Given the description of an element on the screen output the (x, y) to click on. 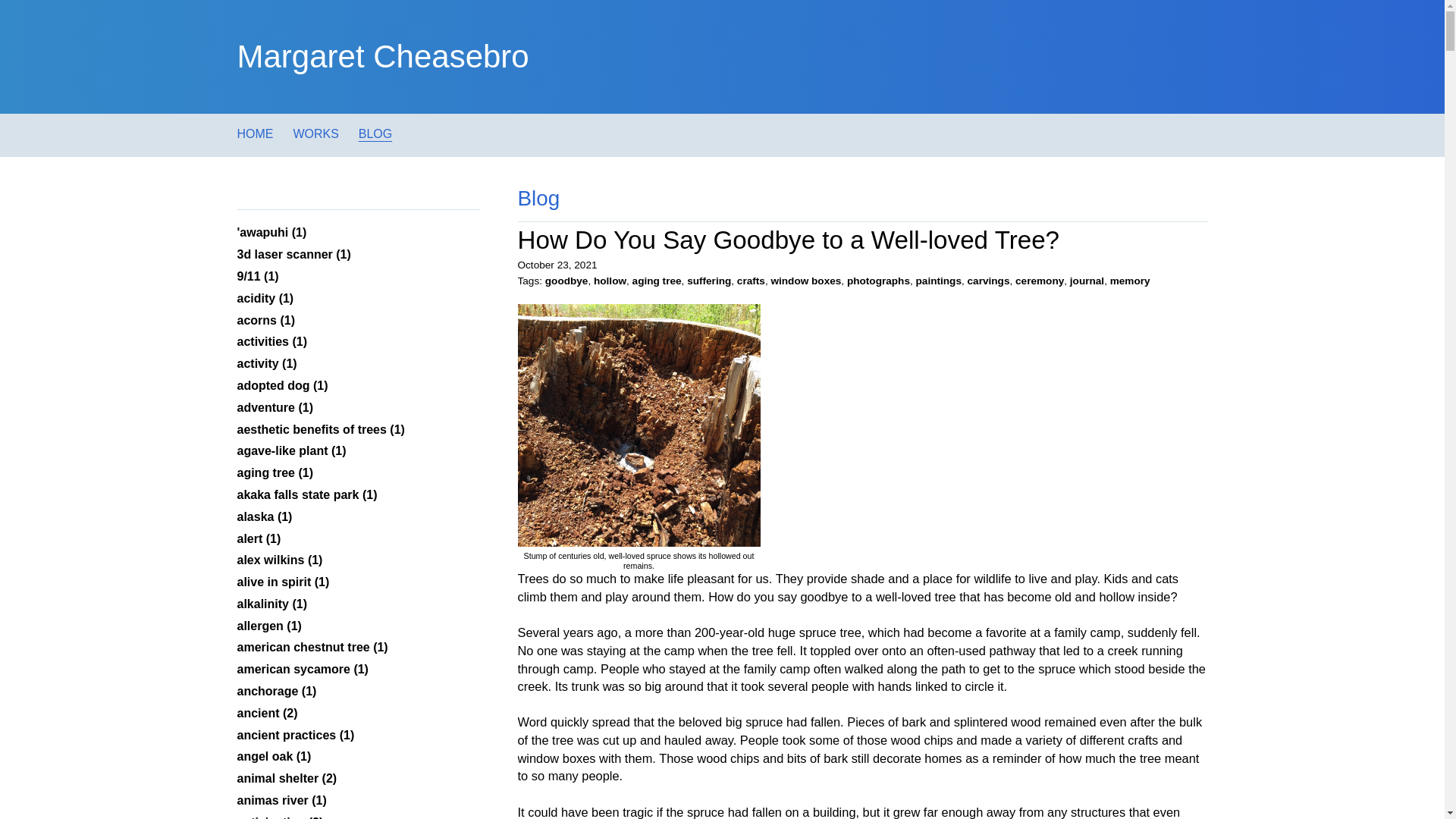
HOME (254, 133)
WORKS (314, 133)
Margaret Cheasebro (381, 56)
BLOG (374, 133)
